Given the description of an element on the screen output the (x, y) to click on. 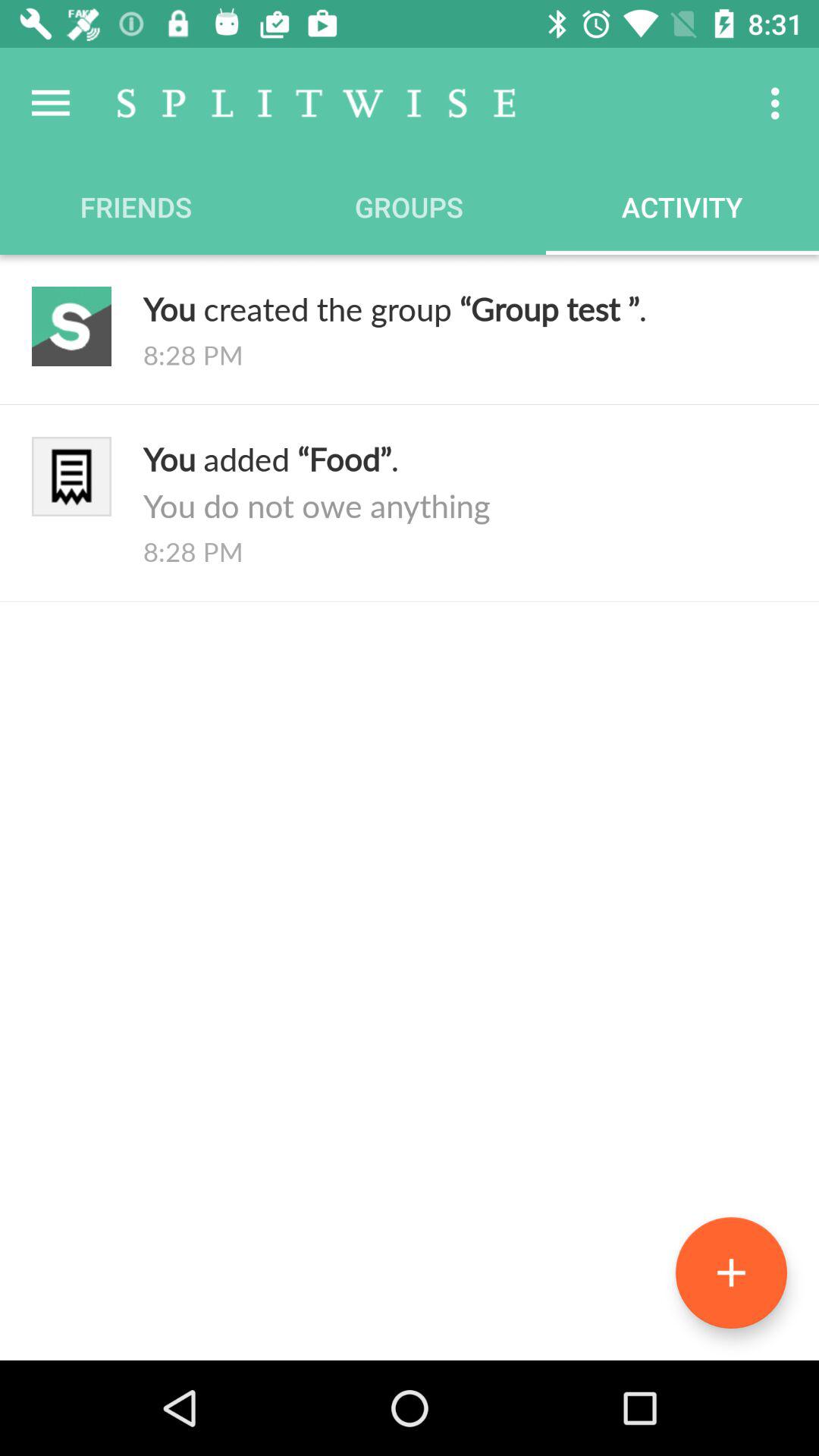
swipe to you created the item (465, 308)
